Given the description of an element on the screen output the (x, y) to click on. 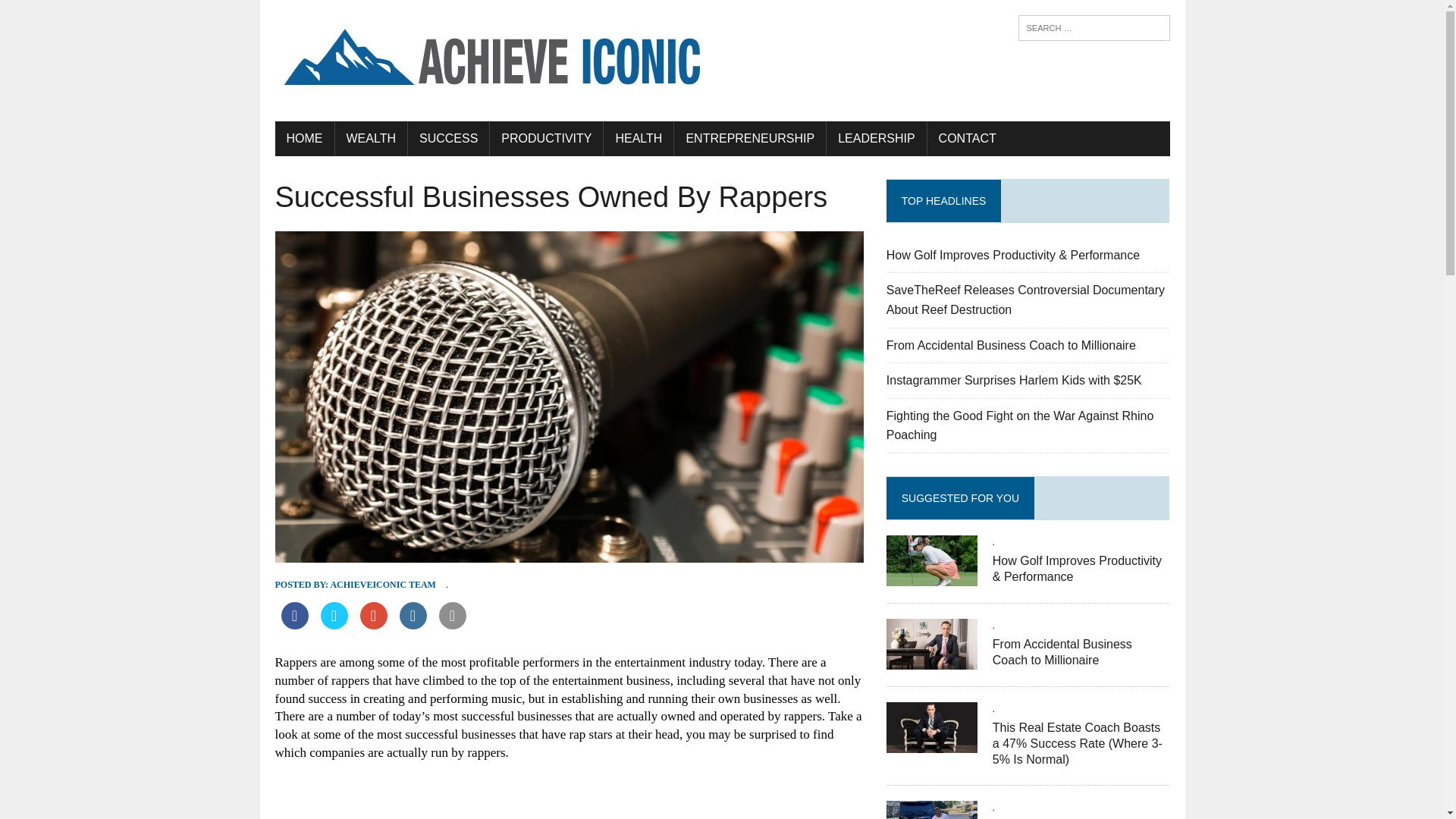
ENTREPRENEURSHIP (749, 138)
HOME (304, 138)
Advertisement (569, 798)
PRODUCTIVITY (545, 138)
Achieve Iconic (722, 60)
Search for: (1093, 27)
WEALTH (370, 138)
CONTACT (967, 138)
ACHIEVEICONIC TEAM (382, 584)
SUCCESS (448, 138)
LEADERSHIP (876, 138)
Search (75, 14)
HEALTH (638, 138)
